Given the description of an element on the screen output the (x, y) to click on. 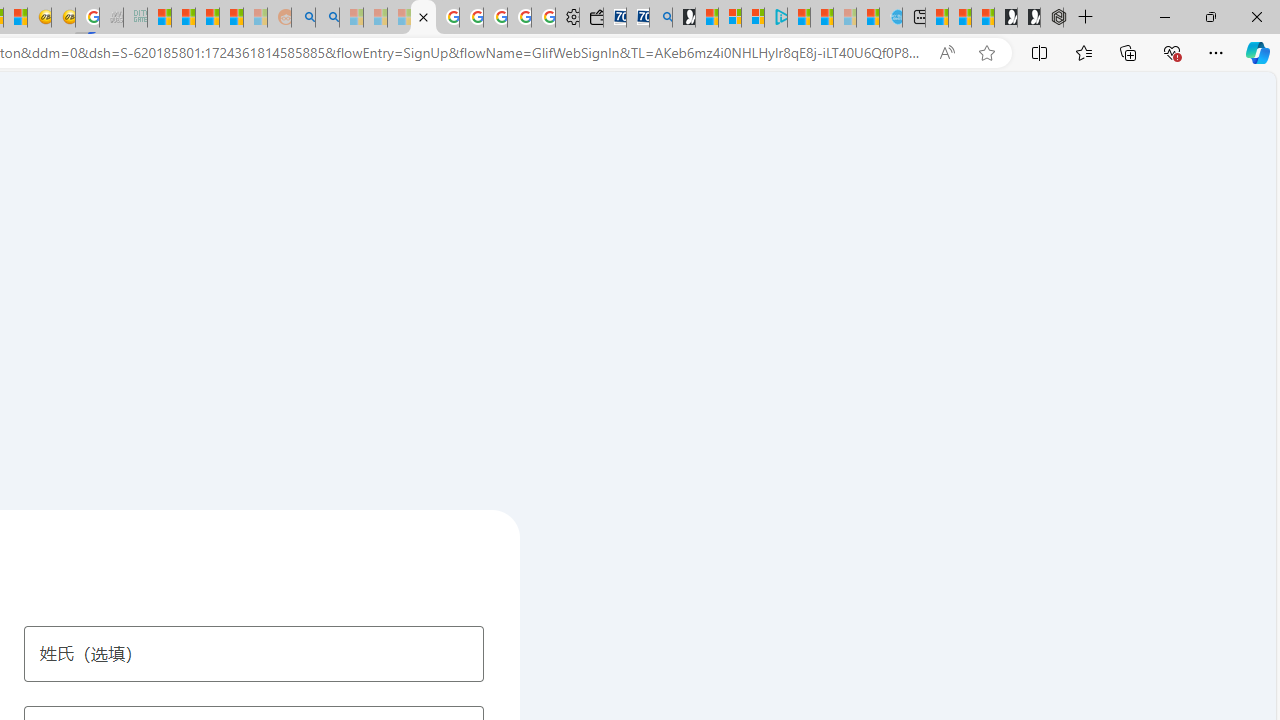
Play Free Online Games | Games from Microsoft Start (1028, 17)
Microsoft Start - Sleeping (845, 17)
Wallet (590, 17)
DITOGAMES AG Imprint - Sleeping (135, 17)
